Given the description of an element on the screen output the (x, y) to click on. 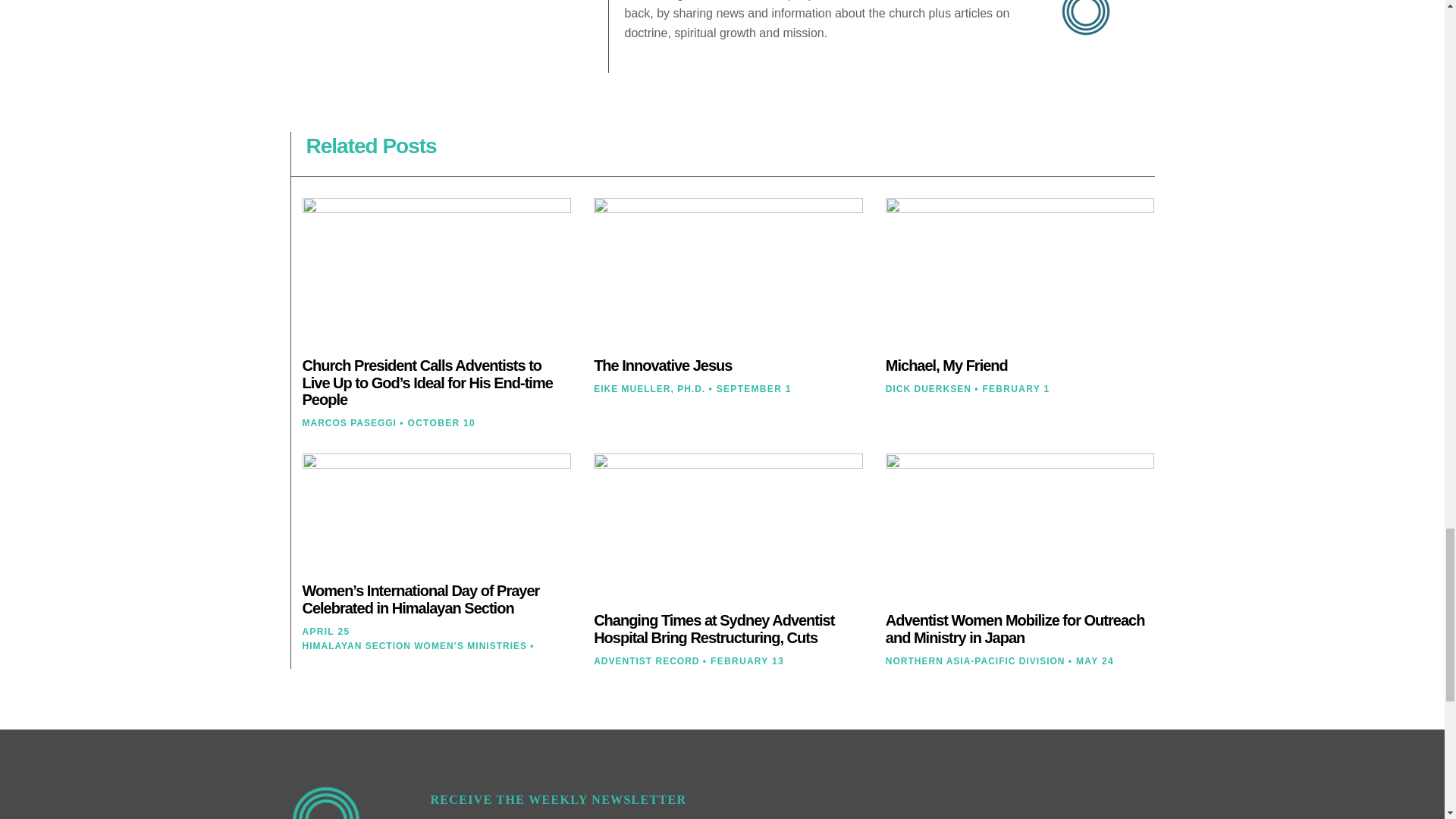
Michael, My Friend (946, 365)
EIKE MUELLER, PH.D. (649, 388)
DICK DUERKSEN (928, 388)
Adventist Women Mobilize for Outreach and Ministry in Japan (1014, 628)
Michael, My Friend (946, 365)
MARCOS PASEGGI (348, 422)
The Innovative Jesus (663, 365)
The Innovative Jesus (663, 365)
